Given the description of an element on the screen output the (x, y) to click on. 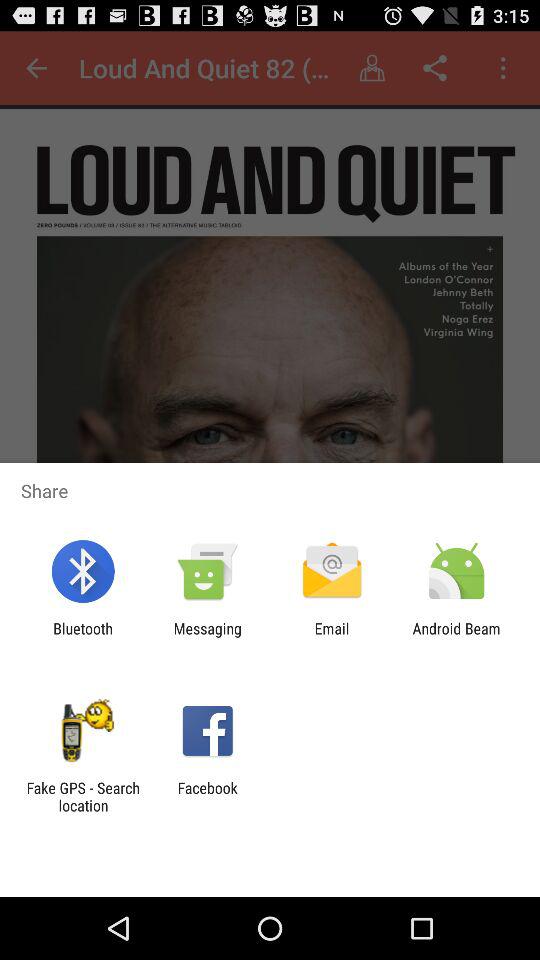
choose the item to the right of the messaging (331, 637)
